Given the description of an element on the screen output the (x, y) to click on. 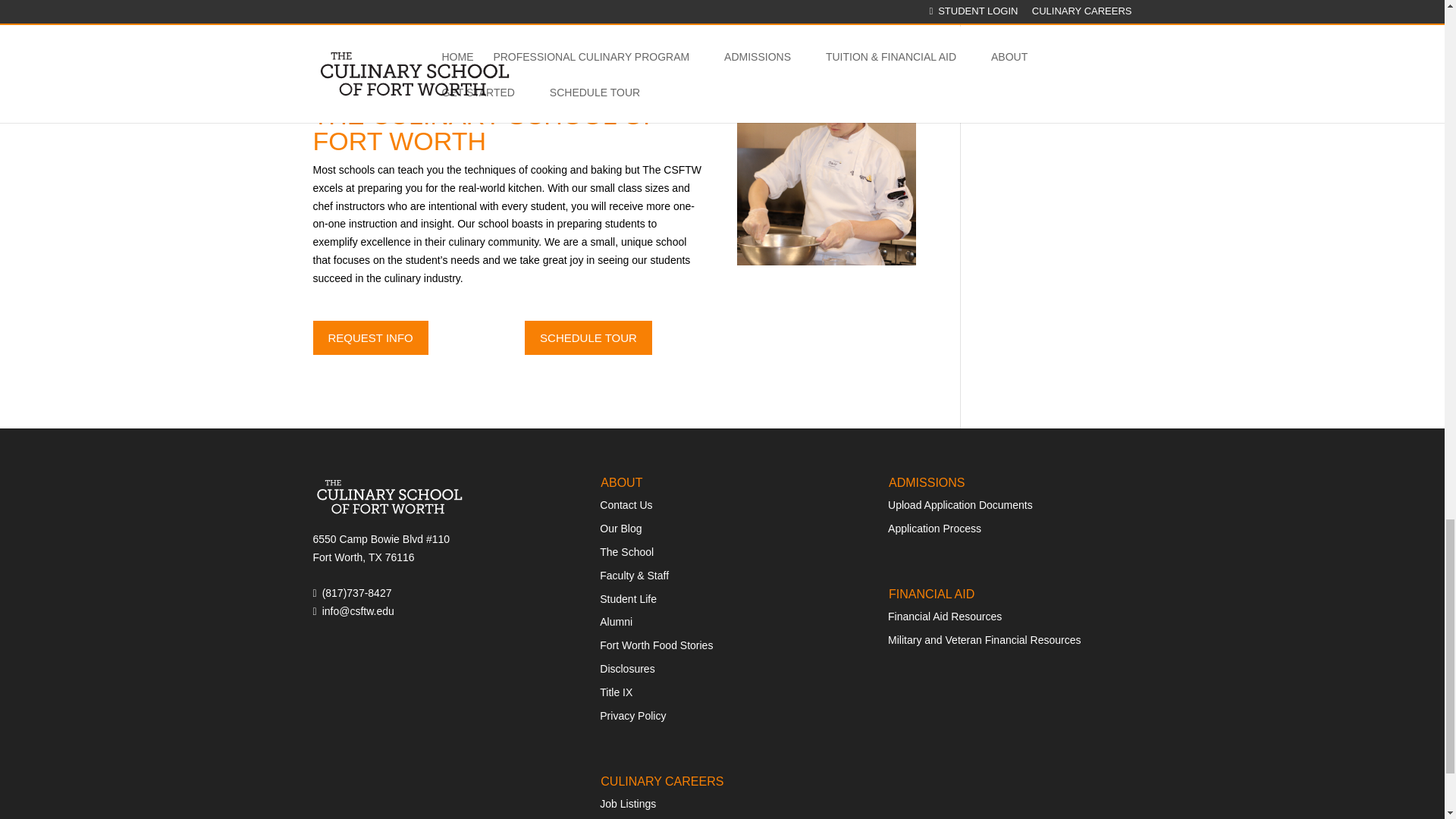
Alumni Spotlight: Joe Howard (825, 165)
